Given the description of an element on the screen output the (x, y) to click on. 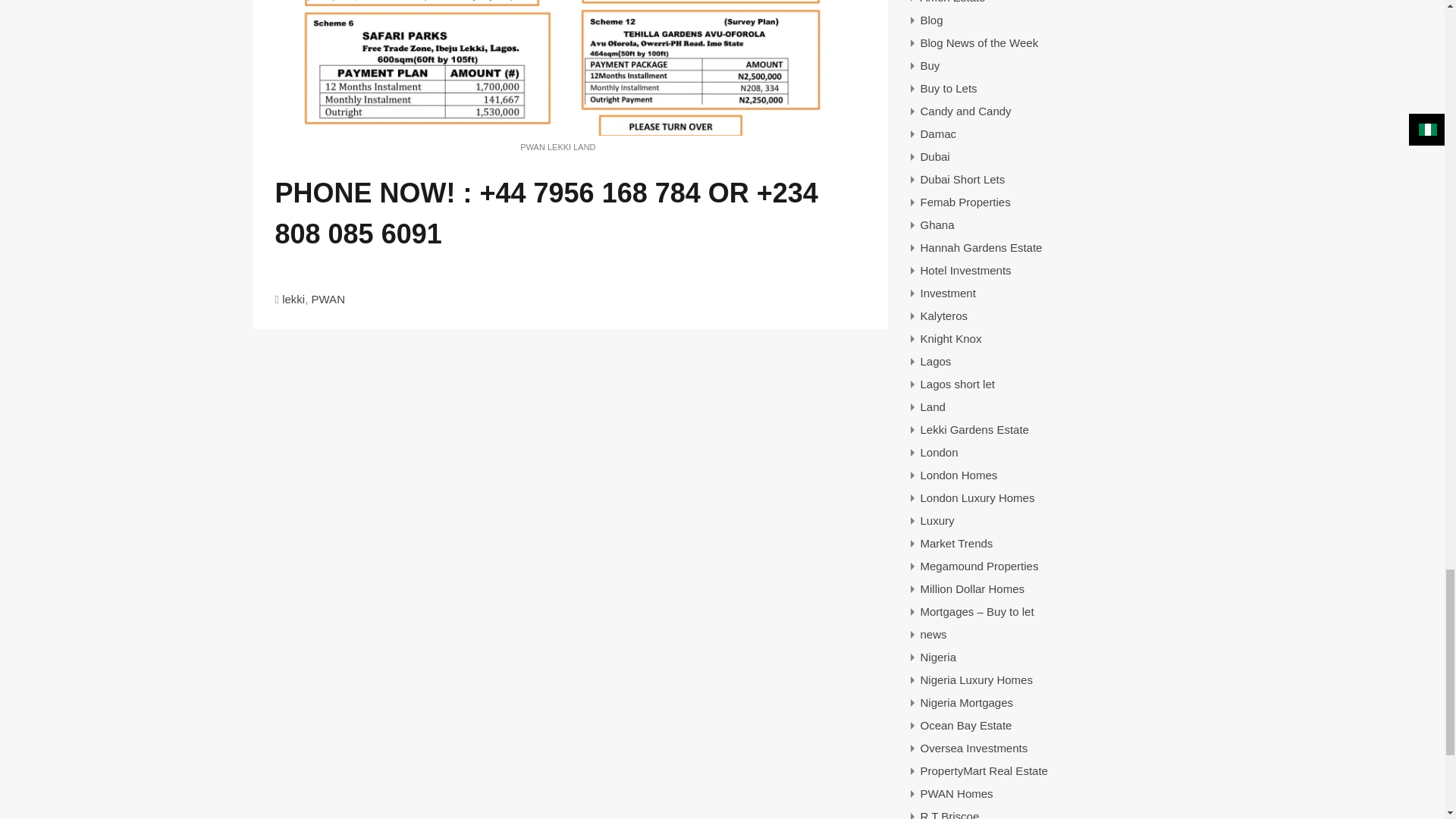
lekki (293, 298)
PWAN (328, 298)
PWAN LEKKI IBEJU LAND SUMMER SALES!.. 3 (557, 67)
